Given the description of an element on the screen output the (x, y) to click on. 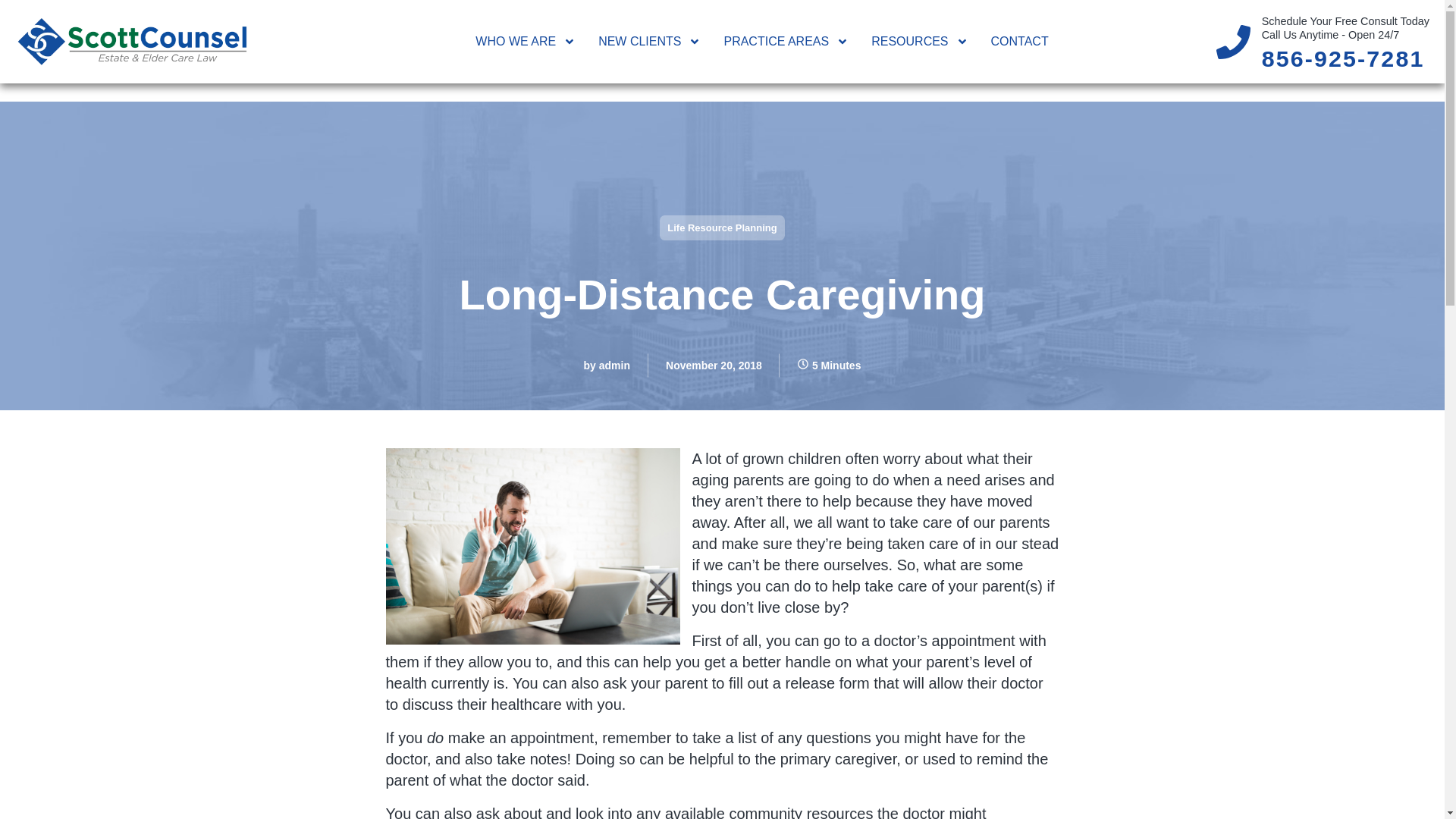
CONTACT (1020, 41)
PRACTICE AREAS (786, 41)
WHO WE ARE (525, 41)
RESOURCES (919, 41)
NEW CLIENTS (649, 41)
